Given the description of an element on the screen output the (x, y) to click on. 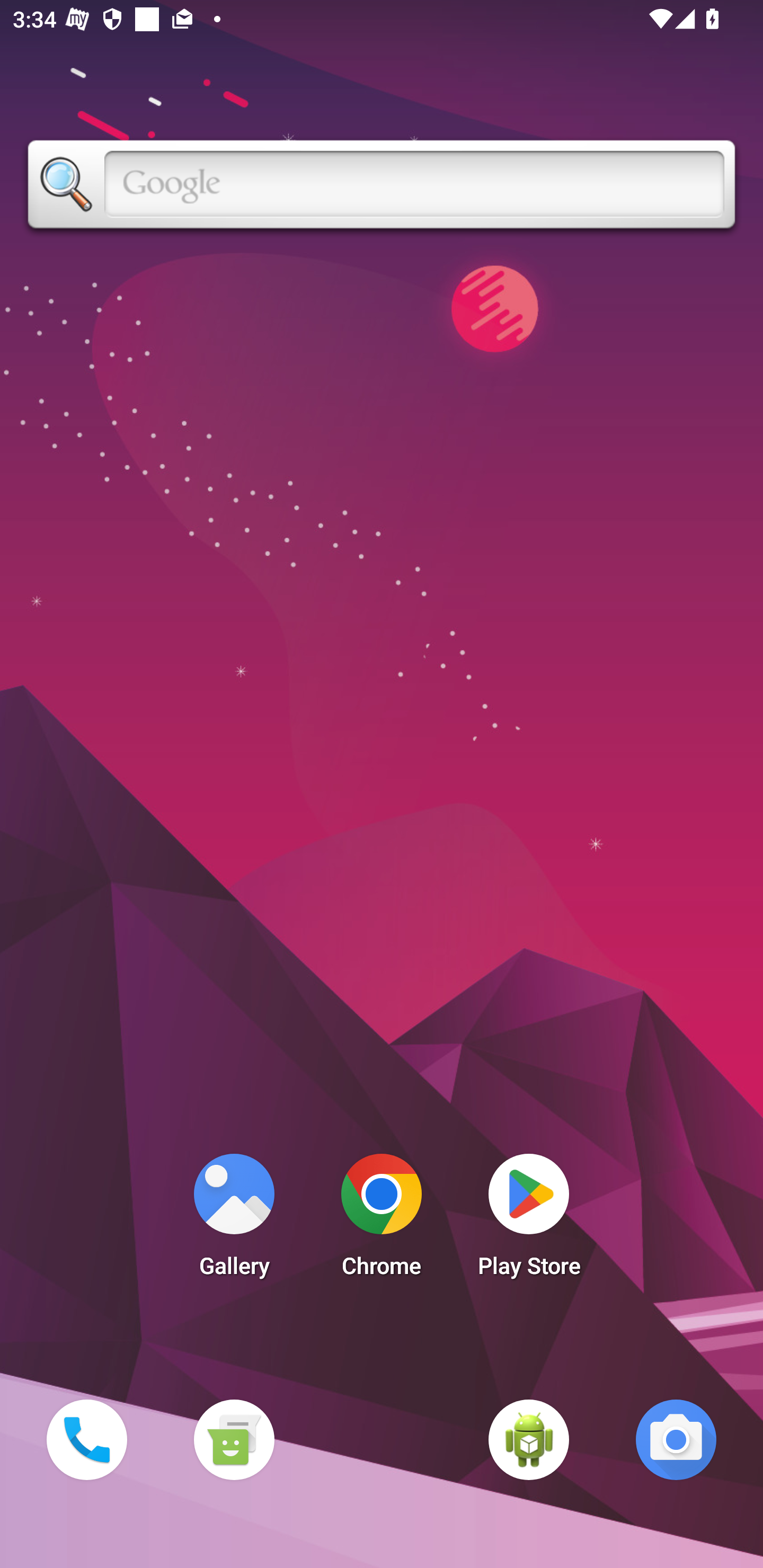
Gallery (233, 1220)
Chrome (381, 1220)
Play Store (528, 1220)
Phone (86, 1439)
Messaging (233, 1439)
WebView Browser Tester (528, 1439)
Camera (676, 1439)
